Given the description of an element on the screen output the (x, y) to click on. 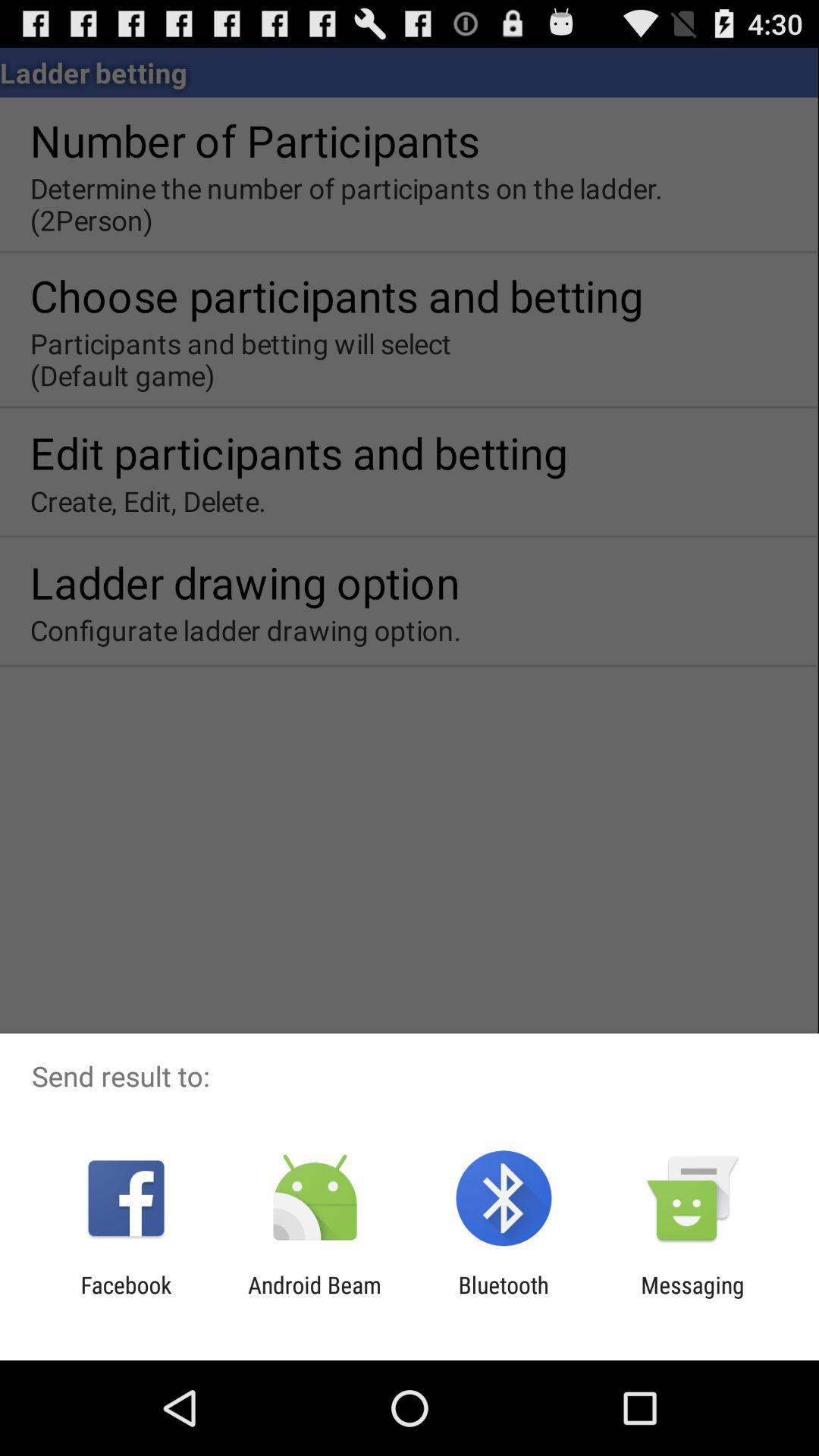
open the item to the left of the bluetooth icon (314, 1298)
